Given the description of an element on the screen output the (x, y) to click on. 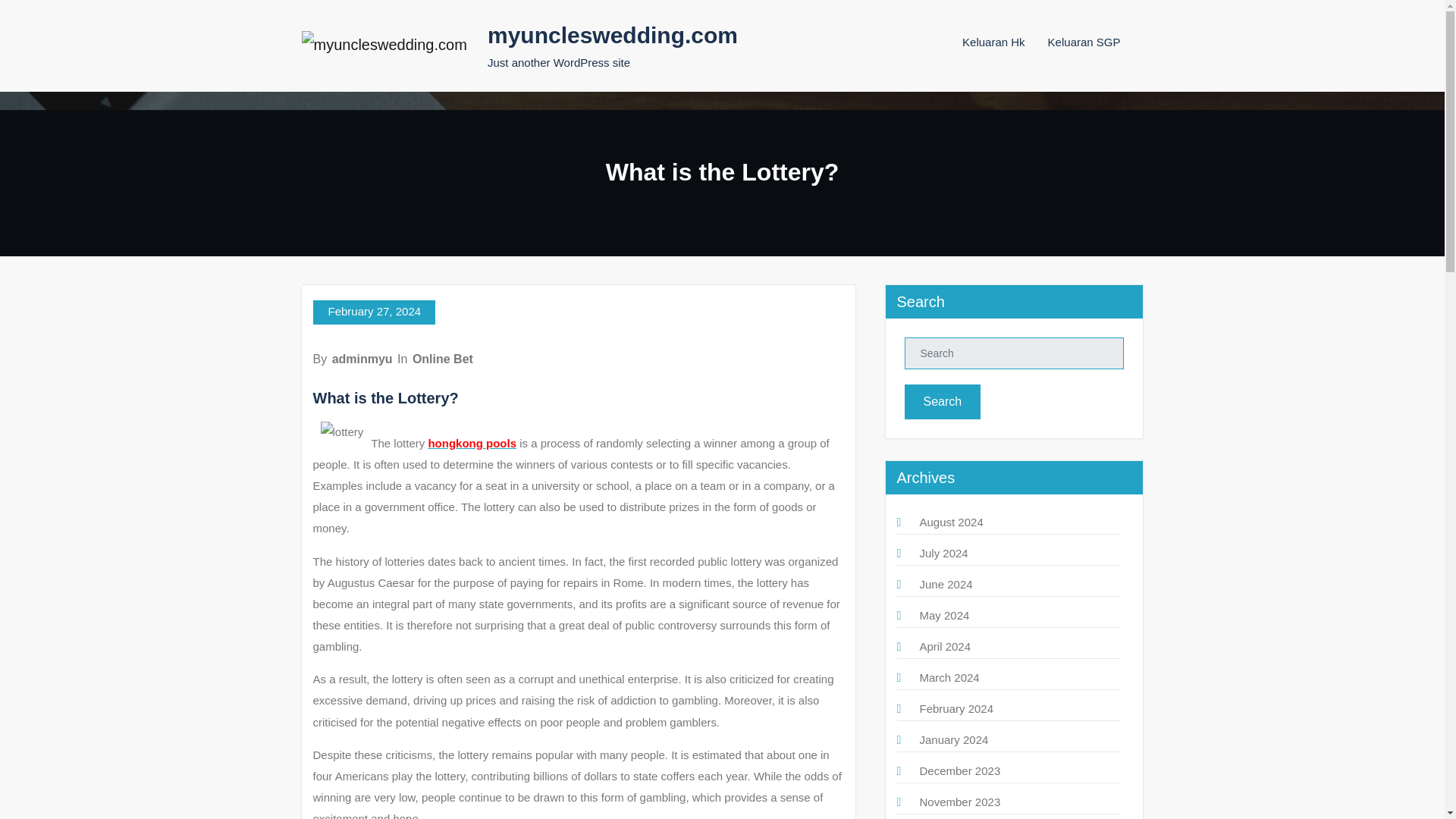
Search (941, 401)
June 2024 (945, 584)
February 27, 2024 (374, 312)
Keluaran Hk (993, 41)
November 2023 (959, 801)
April 2024 (944, 645)
adminmyu (362, 358)
Online Bet (442, 358)
myuncleswedding.com (612, 34)
Keluaran SGP (1084, 41)
December 2023 (959, 770)
February 2024 (955, 707)
hongkong pools (472, 442)
January 2024 (953, 739)
March 2024 (948, 676)
